Given the description of an element on the screen output the (x, y) to click on. 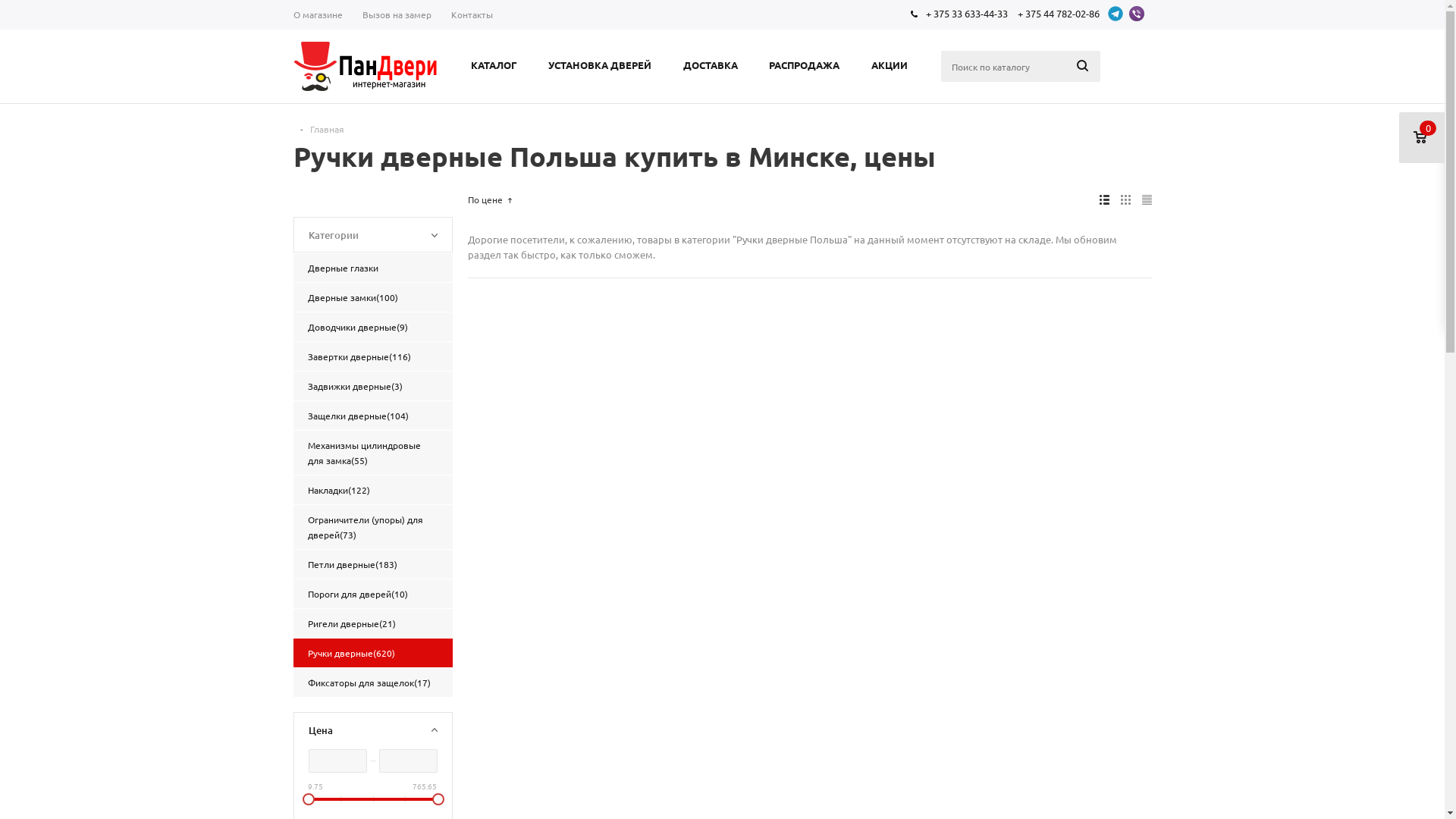
pandveri.by Element type: hover (364, 66)
+ 375 33 633-44-33 Element type: text (966, 12)
+ 375 44 782-02-86 Element type: text (1058, 12)
Y Element type: text (4, 4)
